Given the description of an element on the screen output the (x, y) to click on. 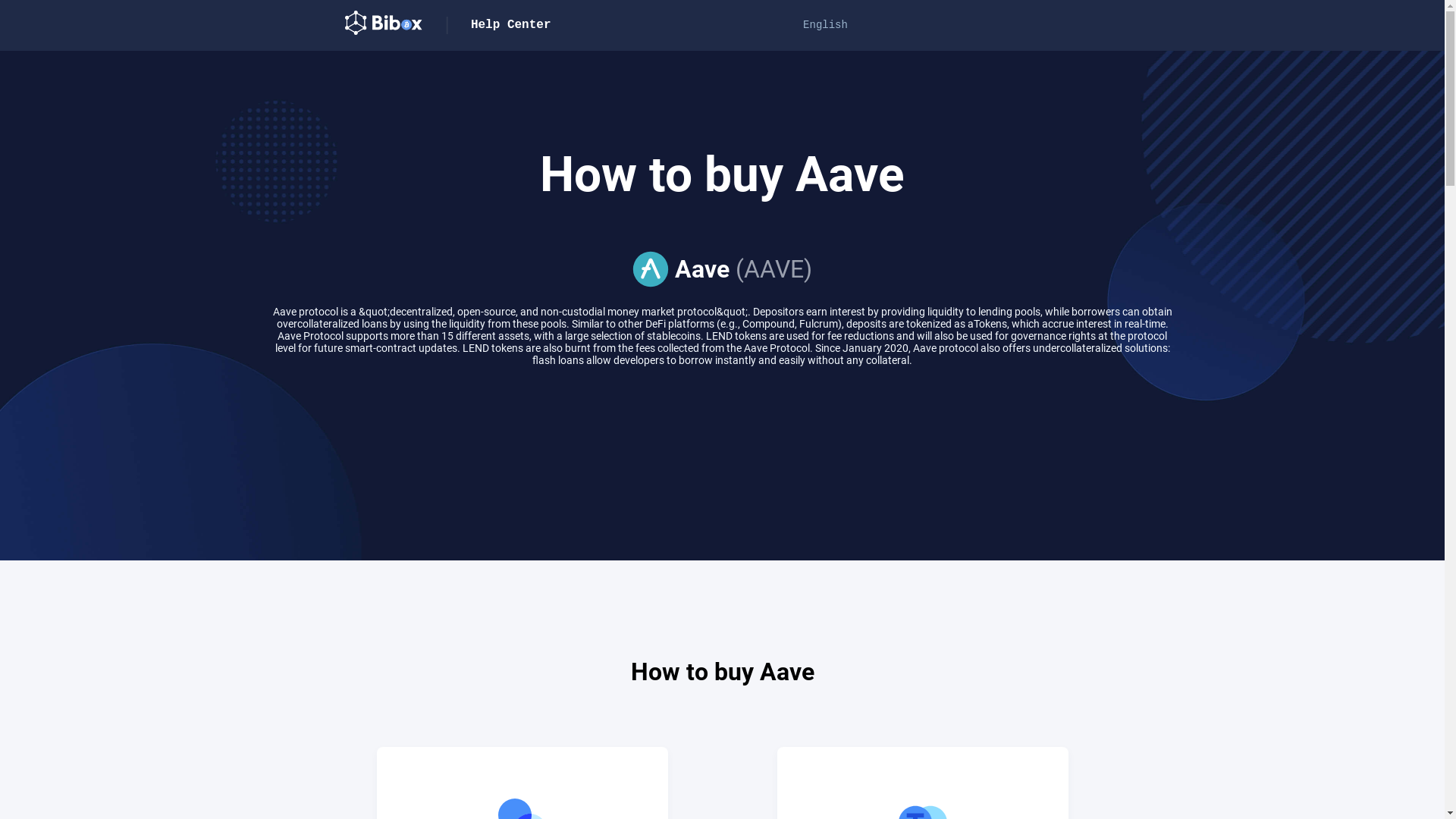
Help Center Element type: text (510, 24)
